Given the description of an element on the screen output the (x, y) to click on. 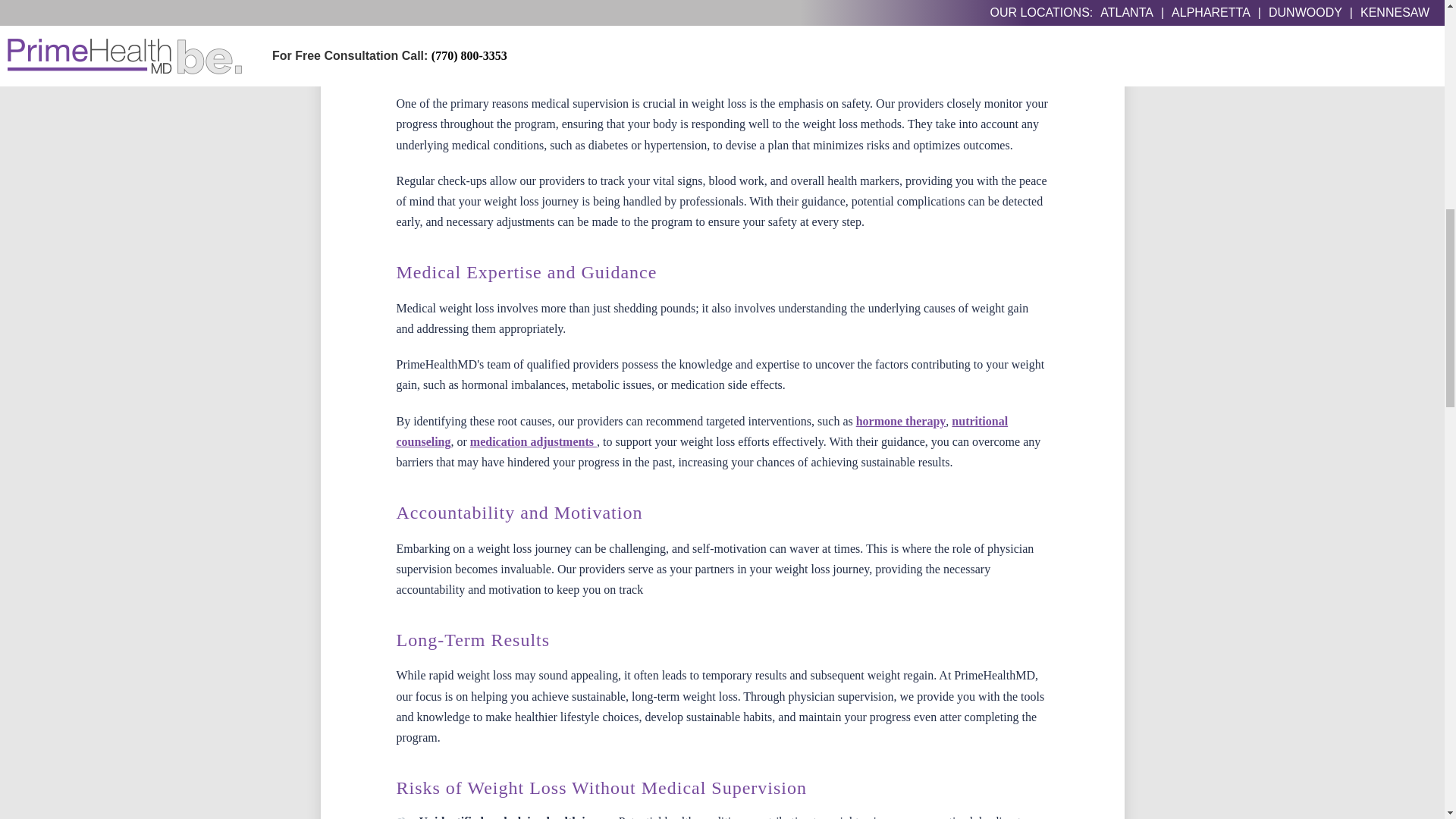
medication adjustments (533, 440)
nutritional counseling (701, 430)
hormone therapy (901, 420)
